Given the description of an element on the screen output the (x, y) to click on. 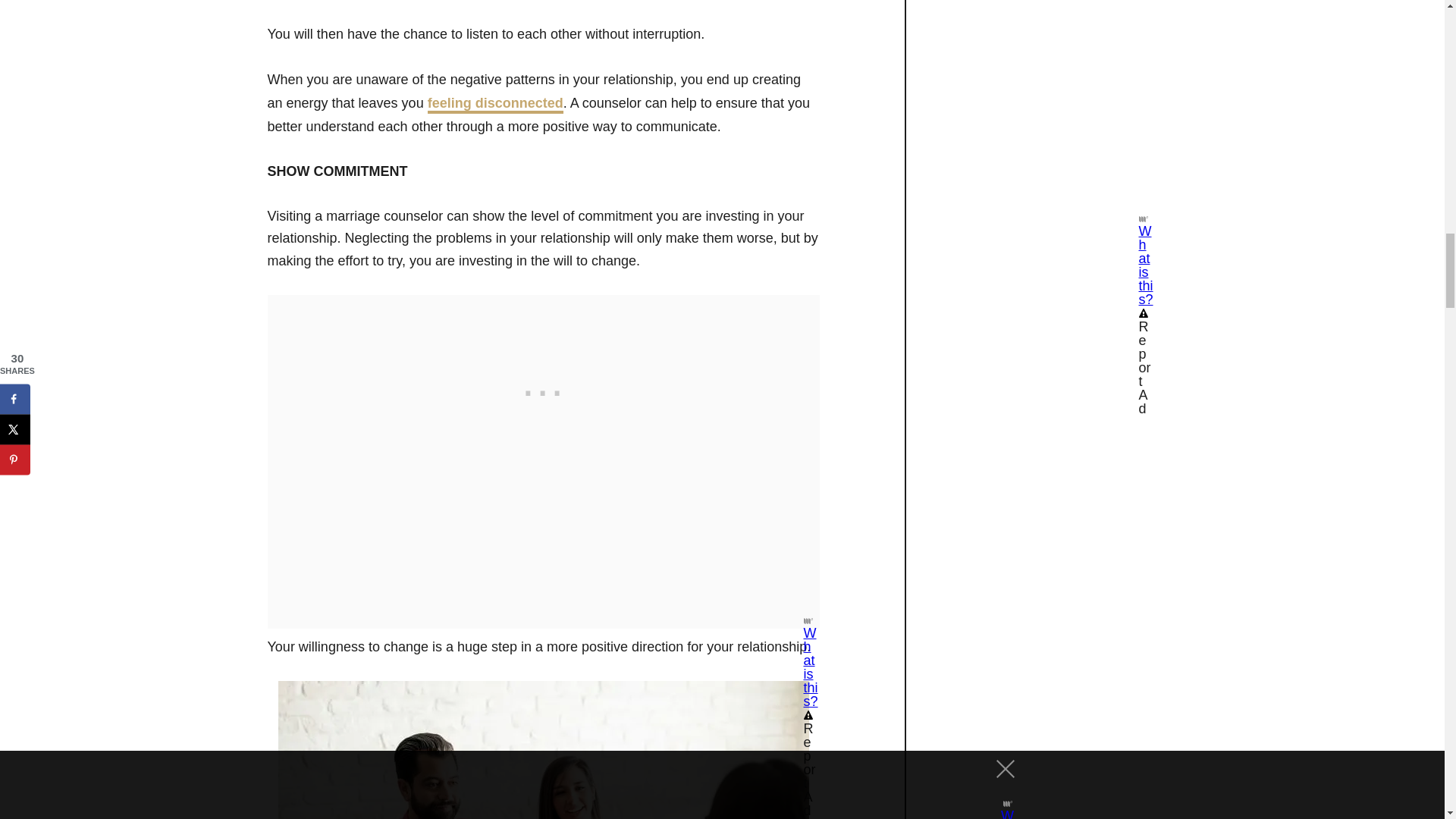
3rd party ad content (542, 389)
